Given the description of an element on the screen output the (x, y) to click on. 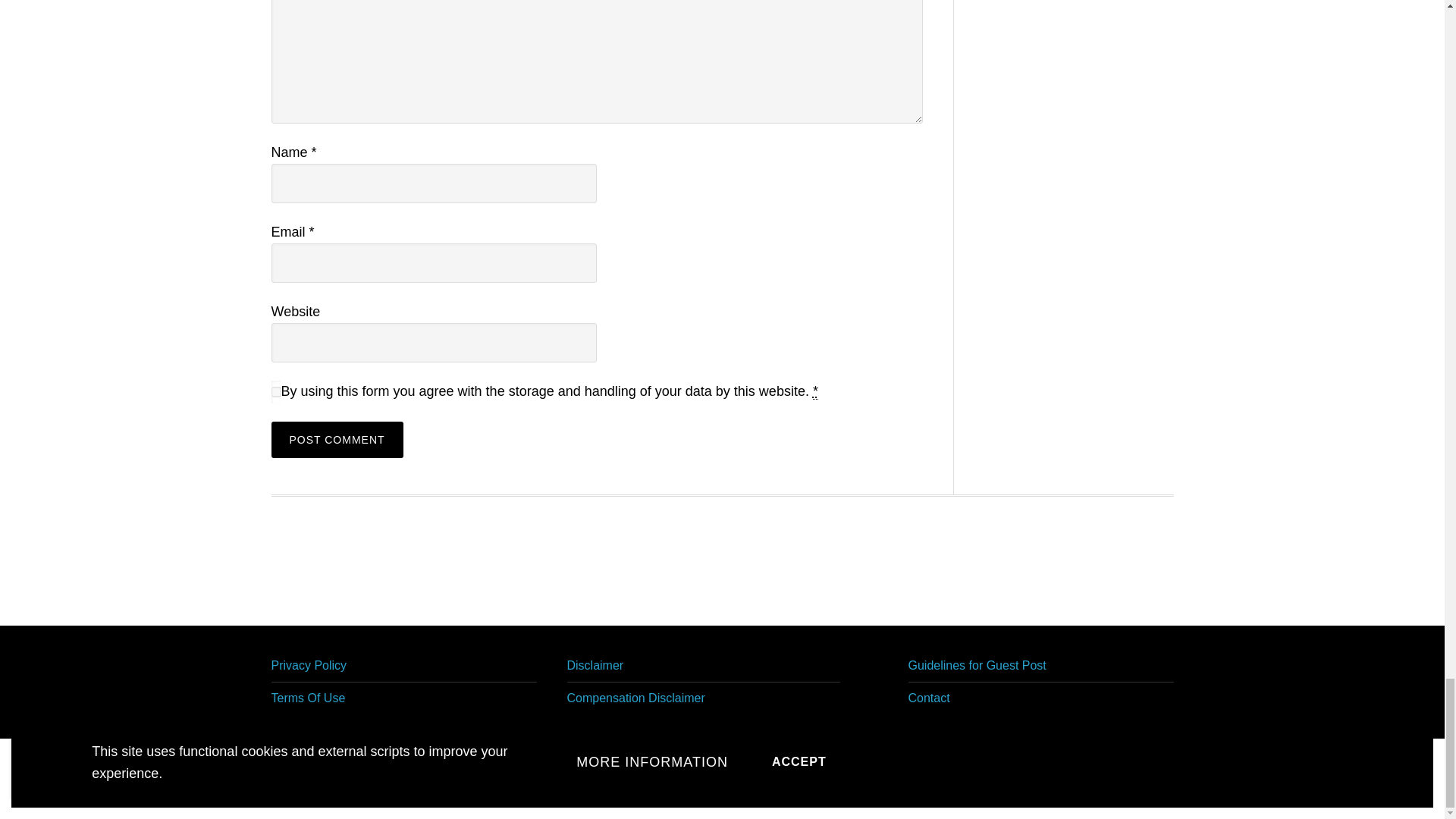
Post Comment (336, 439)
Post Comment (336, 439)
